Given the description of an element on the screen output the (x, y) to click on. 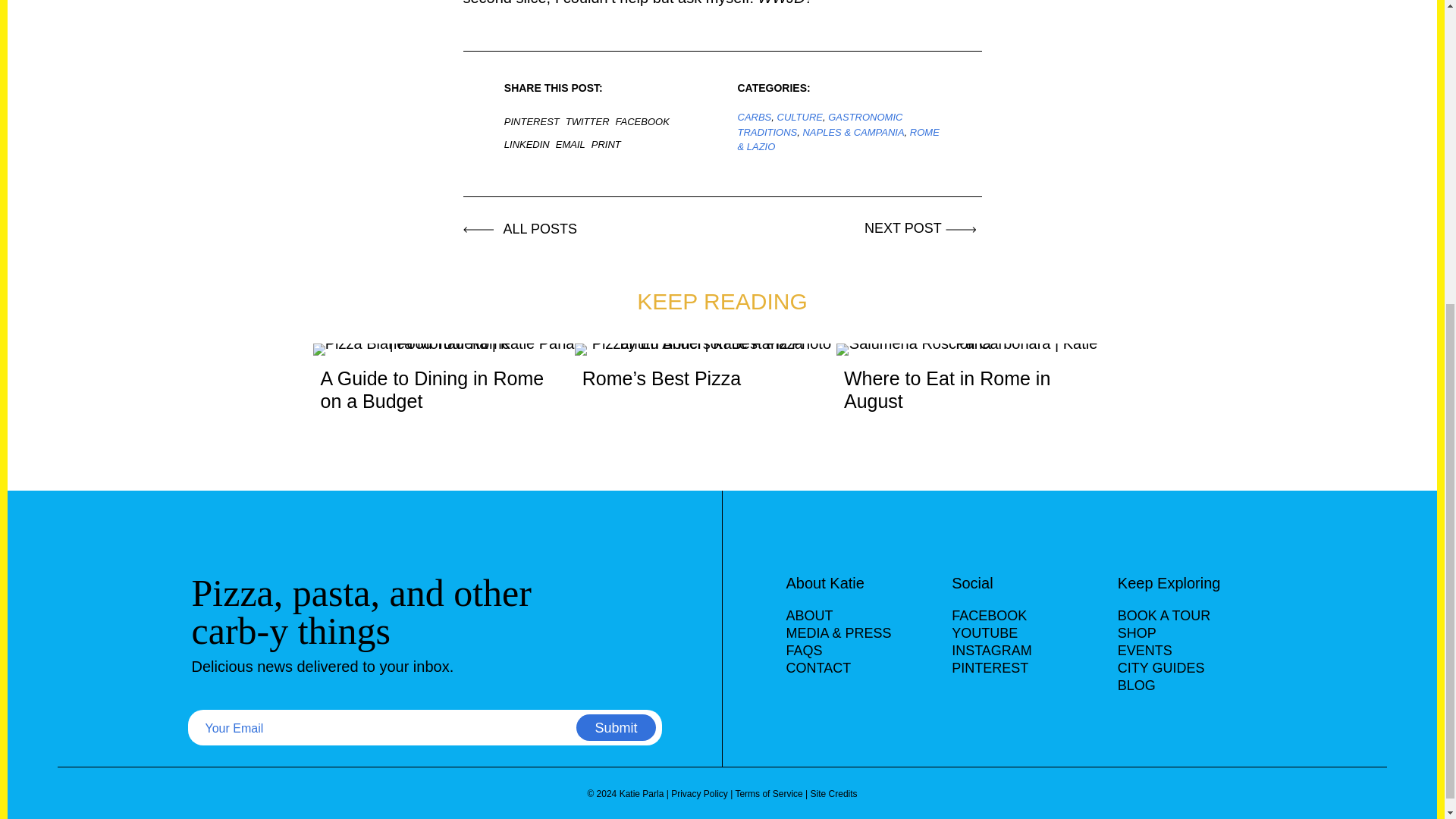
INSTAGRAM (992, 650)
A Guide to Dining in Rome on a Budget (443, 383)
PINTEREST (989, 667)
TWITTER (590, 121)
roscioli salumeria carbonara katie parla (966, 349)
PINTEREST (534, 121)
Click Here (922, 228)
CULTURE (799, 116)
FACEBOOK (645, 121)
Where to Eat in Rome in August (966, 383)
